Given the description of an element on the screen output the (x, y) to click on. 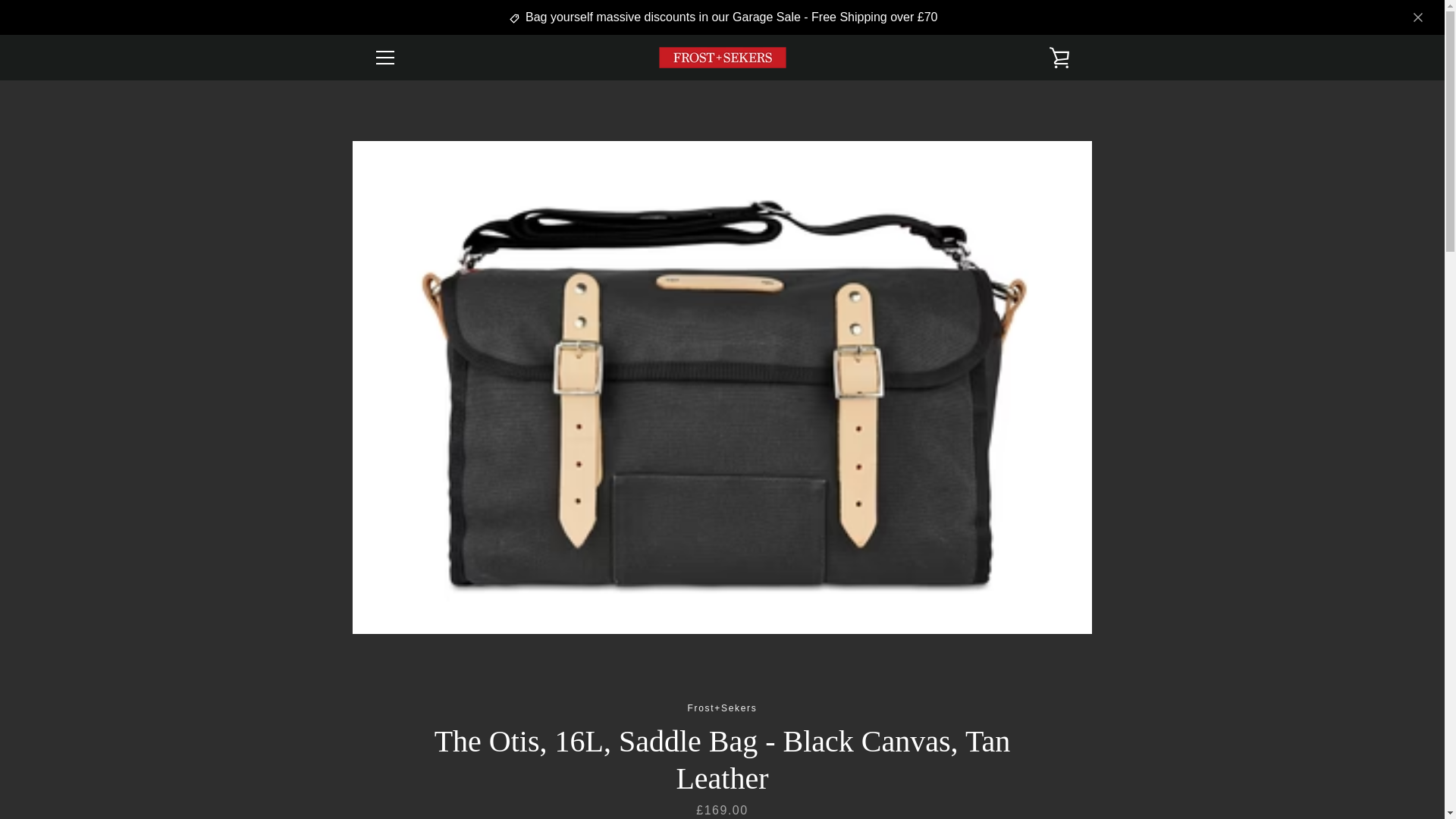
Maestro (1057, 755)
VIEW CART (1059, 57)
PayPal (953, 778)
Apple Pay (918, 755)
Discover (988, 755)
Diners Club (953, 755)
Visa (1057, 778)
Shop Pay (988, 778)
SEARCH (394, 609)
